Given the description of an element on the screen output the (x, y) to click on. 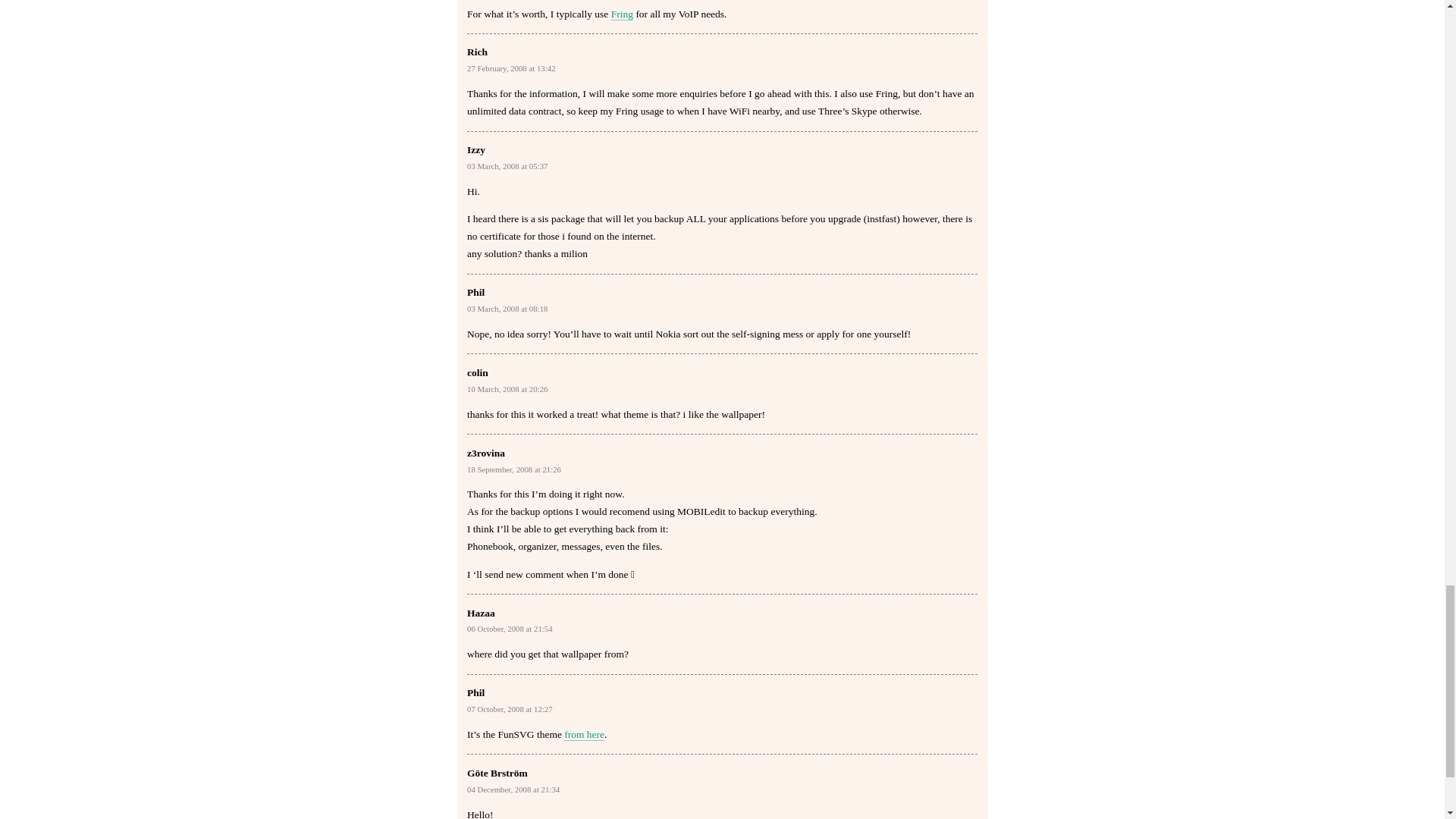
from here (584, 734)
Fring (622, 13)
